Given the description of an element on the screen output the (x, y) to click on. 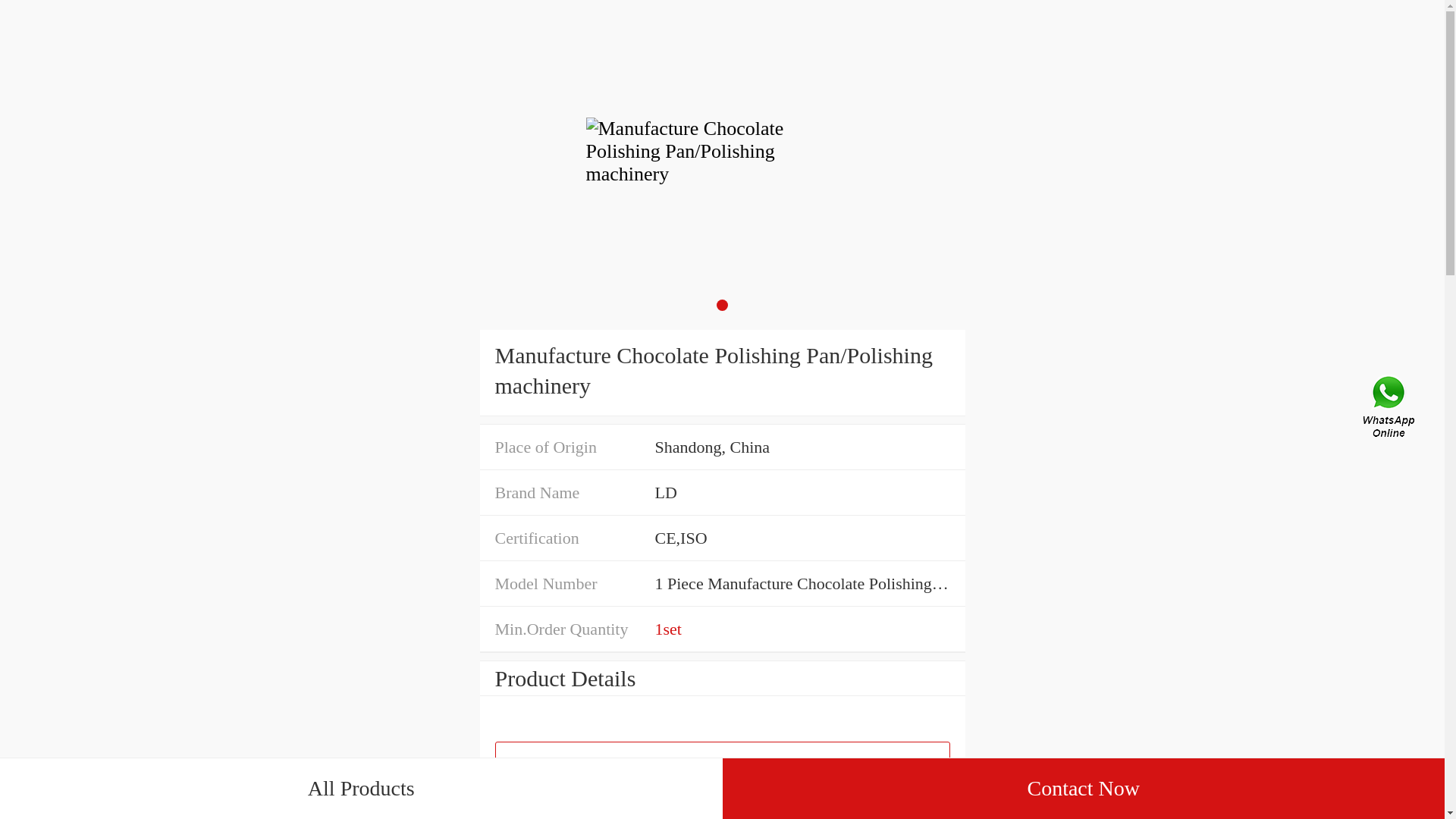
View more Element type: text (721, 764)
Contact Us Element type: hover (1389, 409)
